Given the description of an element on the screen output the (x, y) to click on. 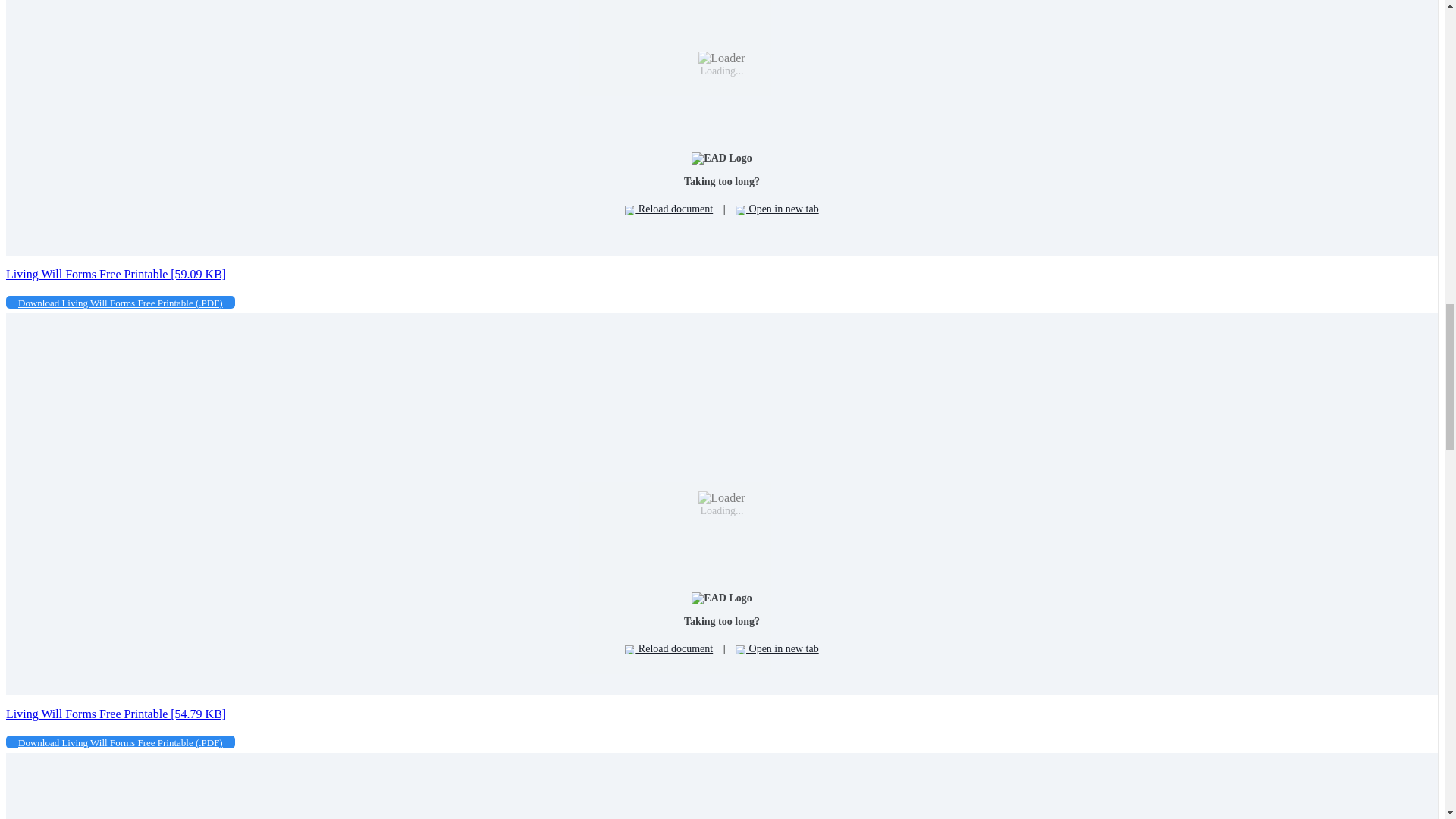
Open in new tab (776, 648)
Open in new tab (776, 209)
